Given the description of an element on the screen output the (x, y) to click on. 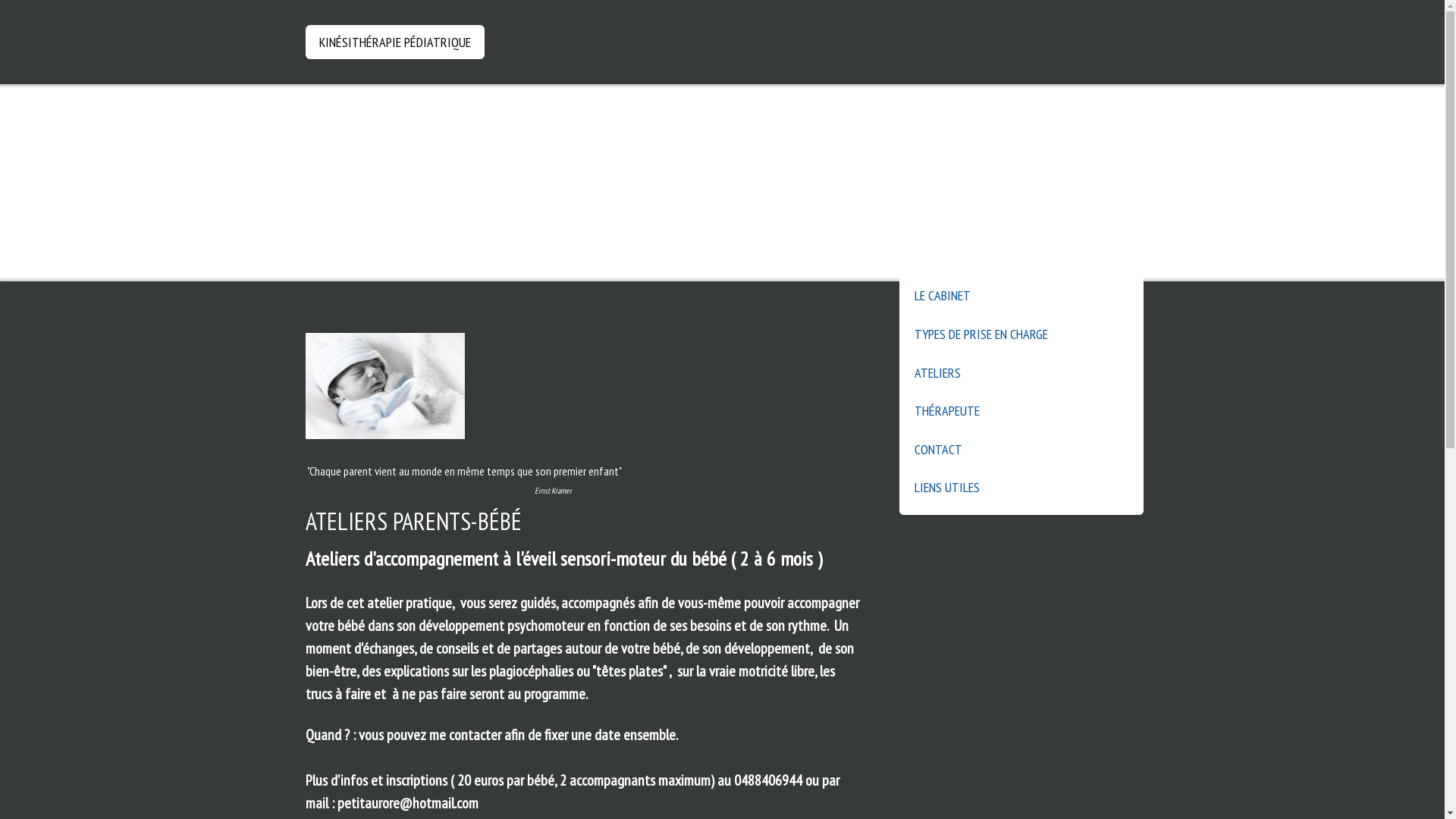
TYPES DE PRISE EN CHARGE Element type: text (1021, 334)
ATELIERS Element type: text (1021, 373)
CONTACT Element type: text (1021, 449)
LIENS UTILES Element type: text (1021, 491)
LE CABINET Element type: text (1021, 292)
